Given the description of an element on the screen output the (x, y) to click on. 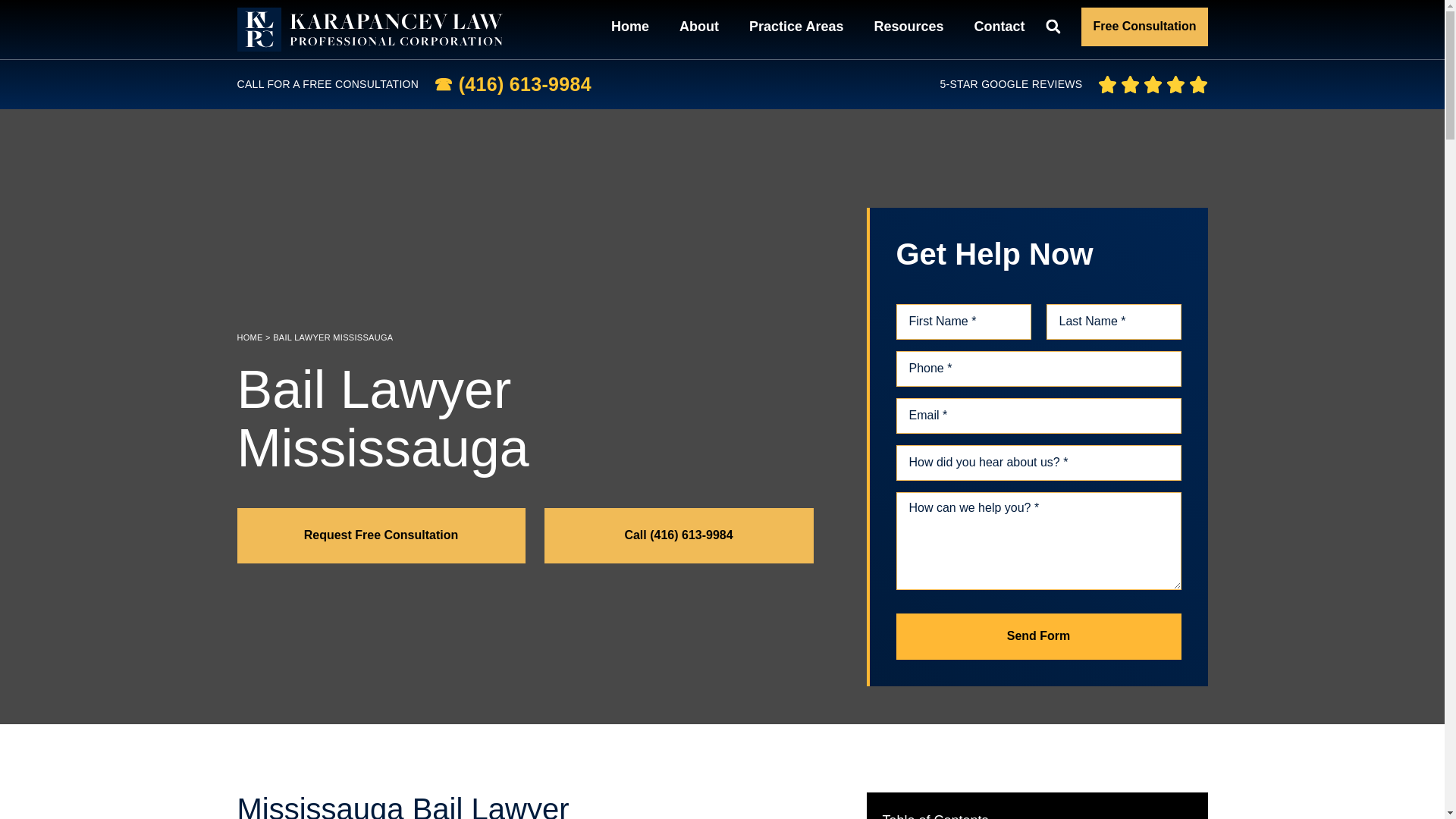
Practice Areas (796, 26)
About (699, 26)
Home (630, 26)
